Given the description of an element on the screen output the (x, y) to click on. 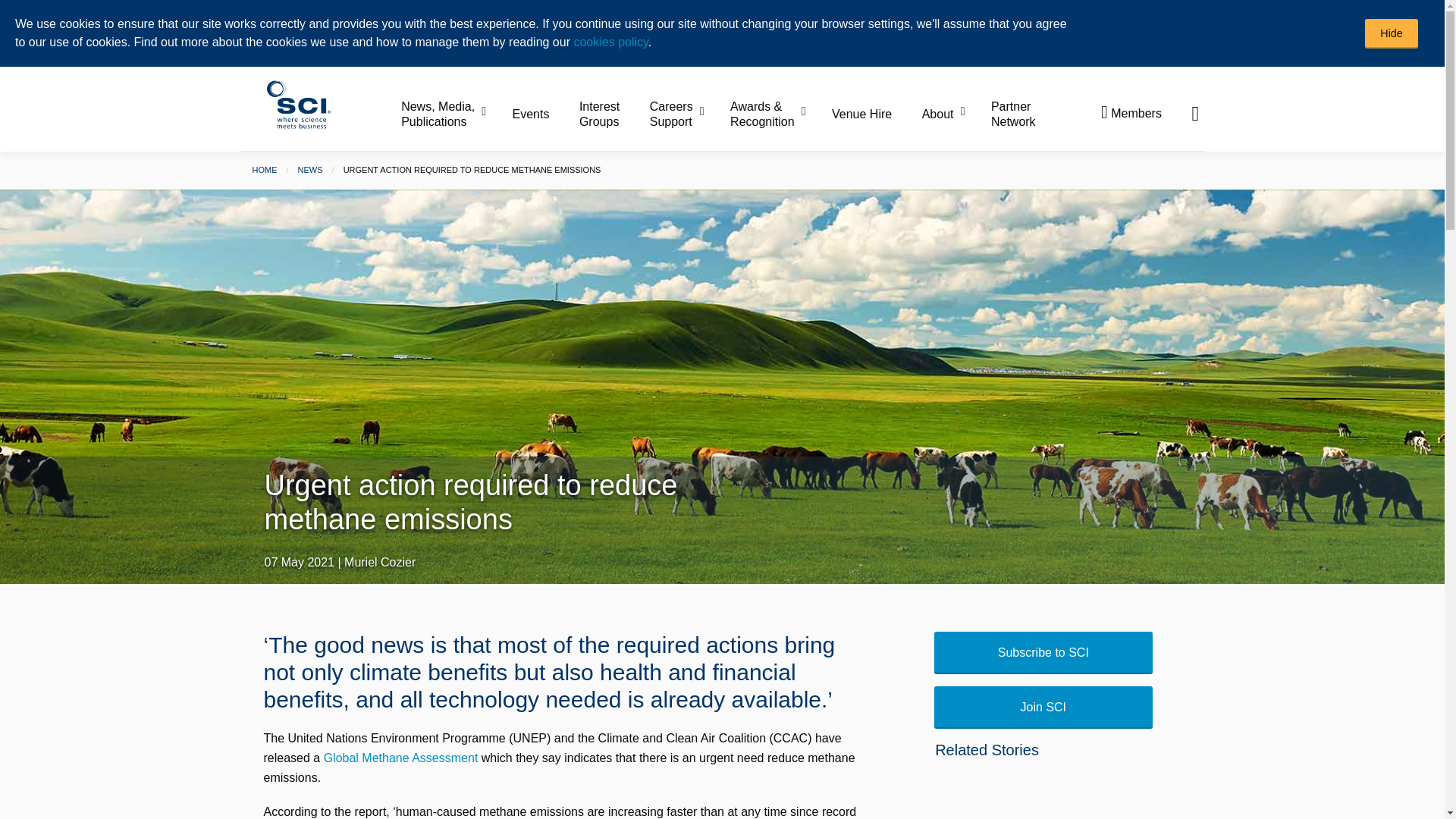
Venue Hire (874, 113)
News, Media, Publications (454, 114)
Careers Support (687, 114)
Events (544, 113)
Hide (1391, 33)
Interest Groups (612, 114)
cookies policy (610, 42)
About (954, 113)
Partner Network (1013, 114)
